Given the description of an element on the screen output the (x, y) to click on. 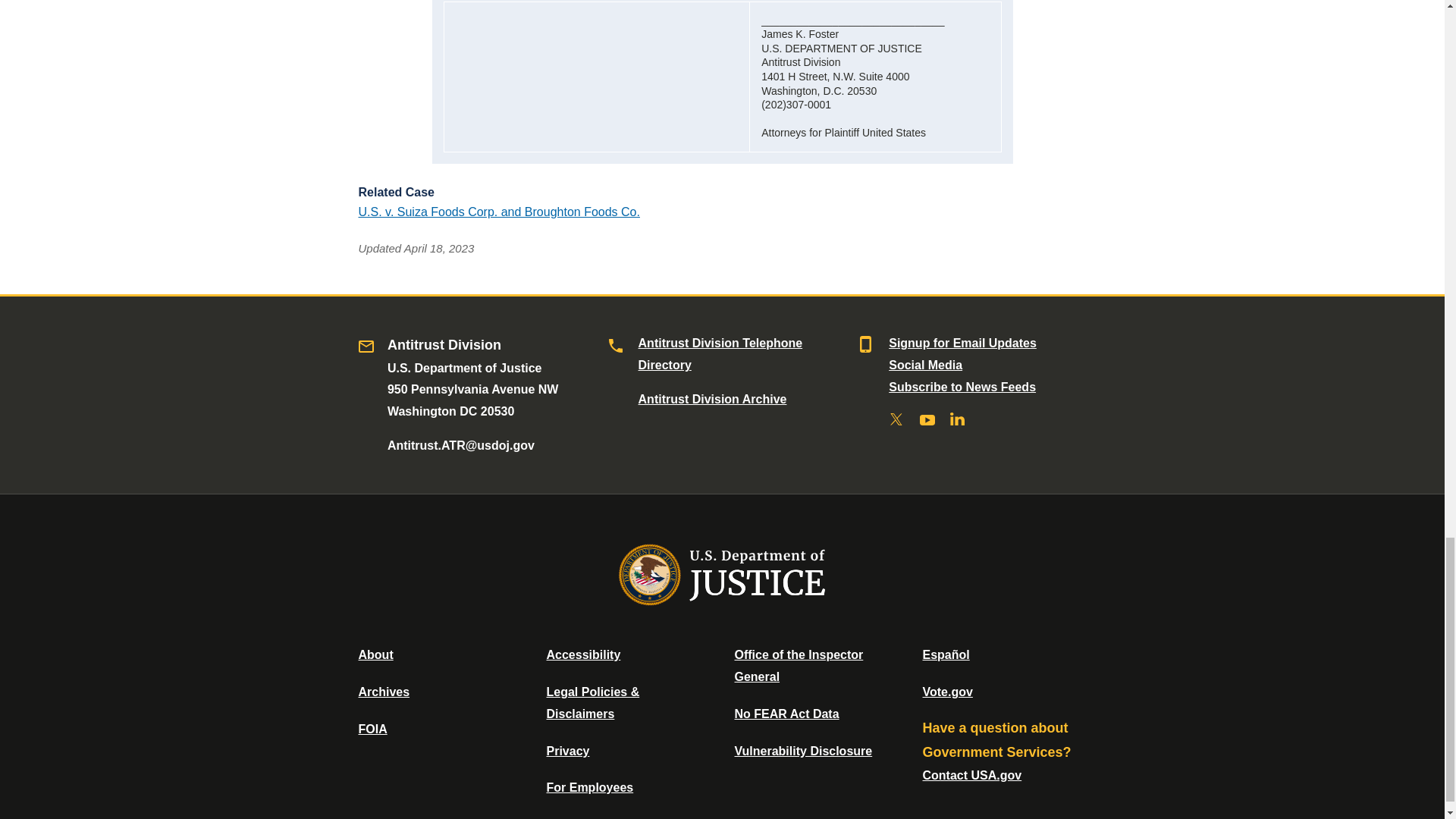
For Employees (589, 787)
Antitrust Division Archive (713, 399)
U.S. v. Suiza Foods Corp. and Broughton Foods Co. (498, 211)
Accessibility Statement (583, 654)
About DOJ (375, 654)
Data Posted Pursuant To The No Fear Act (785, 713)
Legal Policies and Disclaimers (592, 702)
Office of Information Policy (372, 728)
Antitrust Division Telephone Directory (721, 353)
Department of Justice Archive (383, 691)
